Given the description of an element on the screen output the (x, y) to click on. 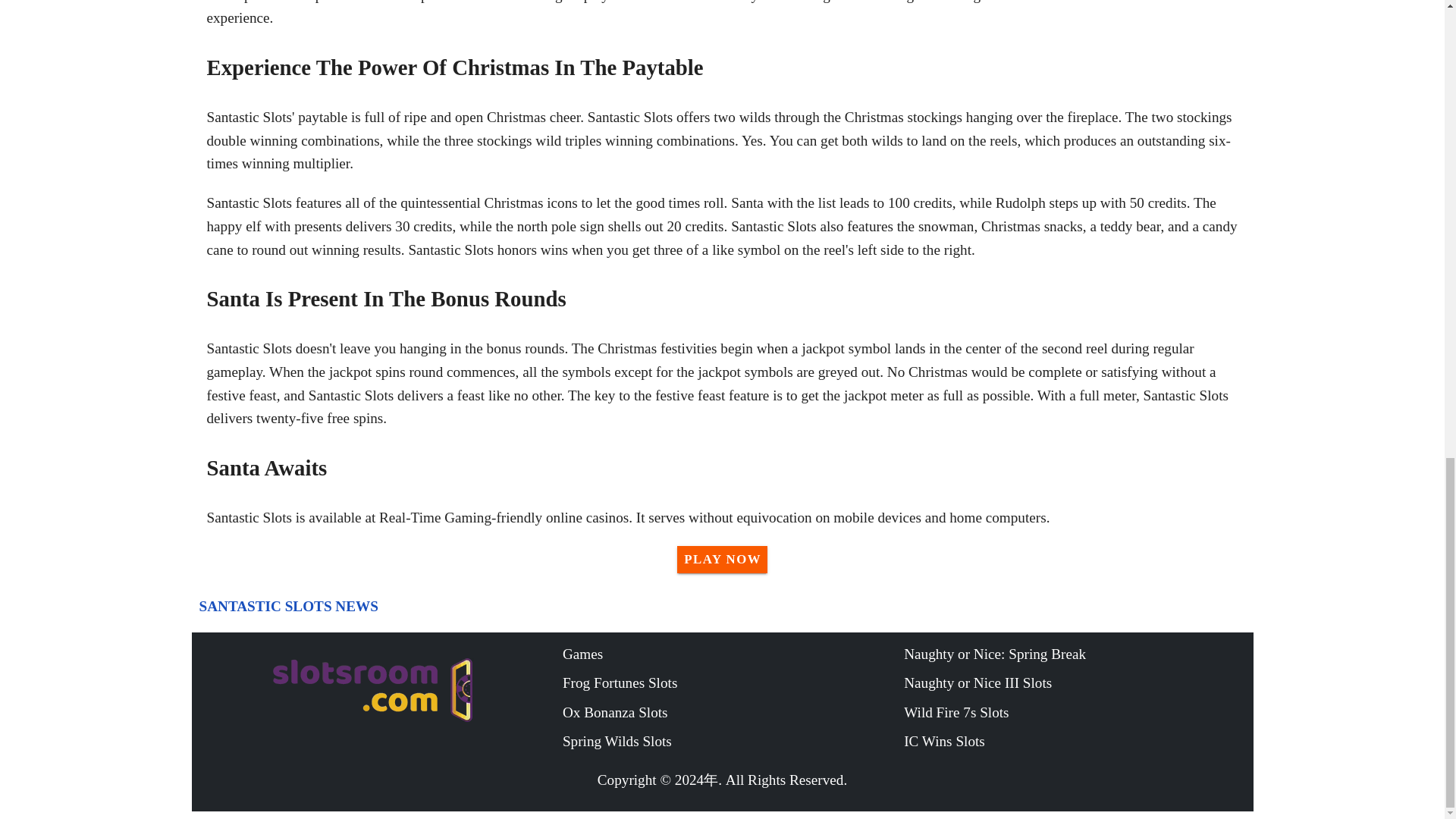
Naughty or Nice III Slots (1074, 683)
Games (733, 654)
Wild Fire 7s Slots (1074, 712)
Naughty or Nice: Spring Break (1074, 654)
Frog Fortunes Slots (733, 683)
PLAY NOW (722, 559)
Ox Bonanza Slots (733, 712)
IC Wins Slots (1074, 741)
Spring Wilds Slots (733, 741)
